Given the description of an element on the screen output the (x, y) to click on. 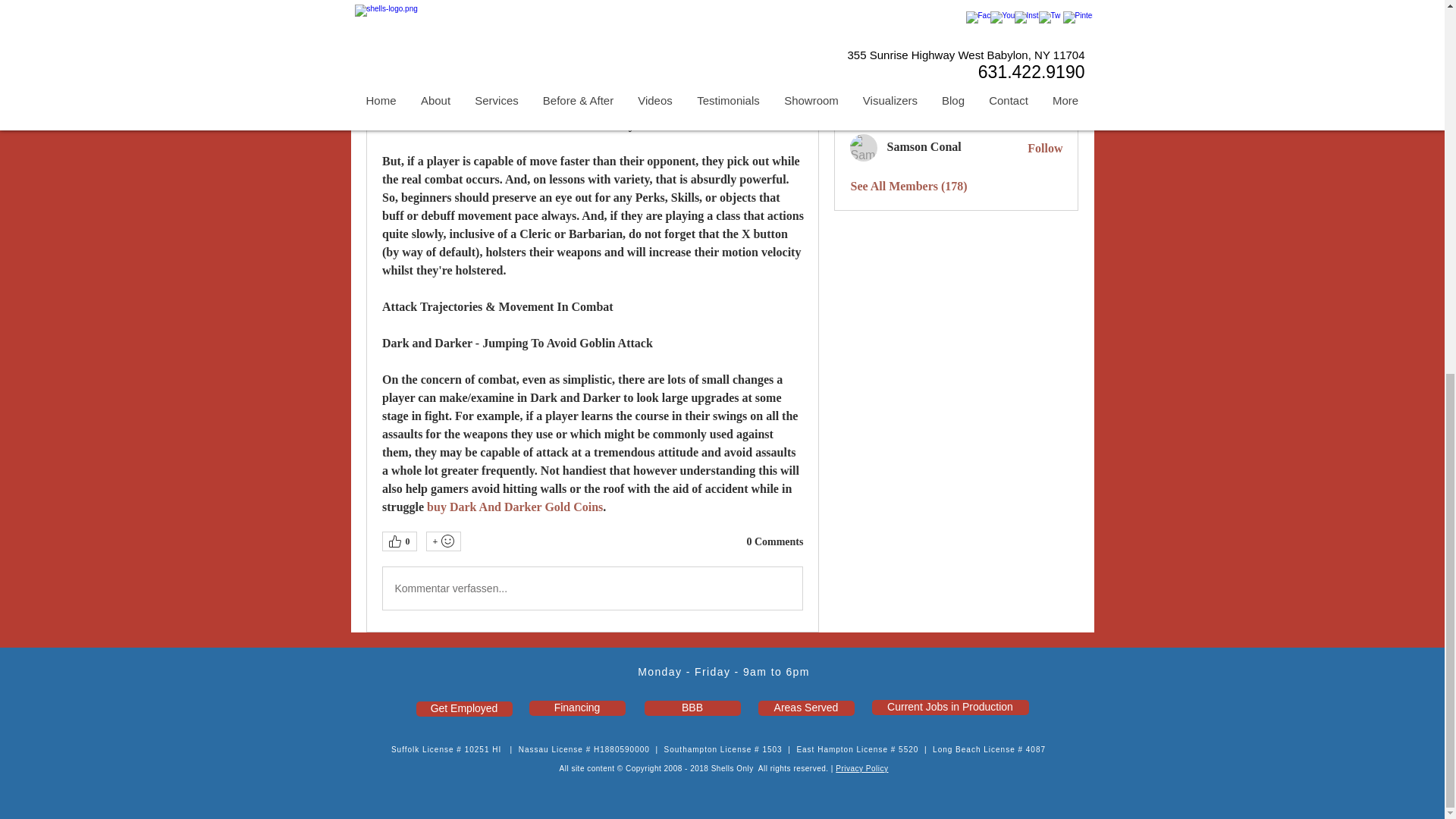
Samson Conal (863, 147)
nefertarivivi2370 (863, 36)
Shells Marketing (863, 7)
Sarah Thompson (863, 72)
